Given the description of an element on the screen output the (x, y) to click on. 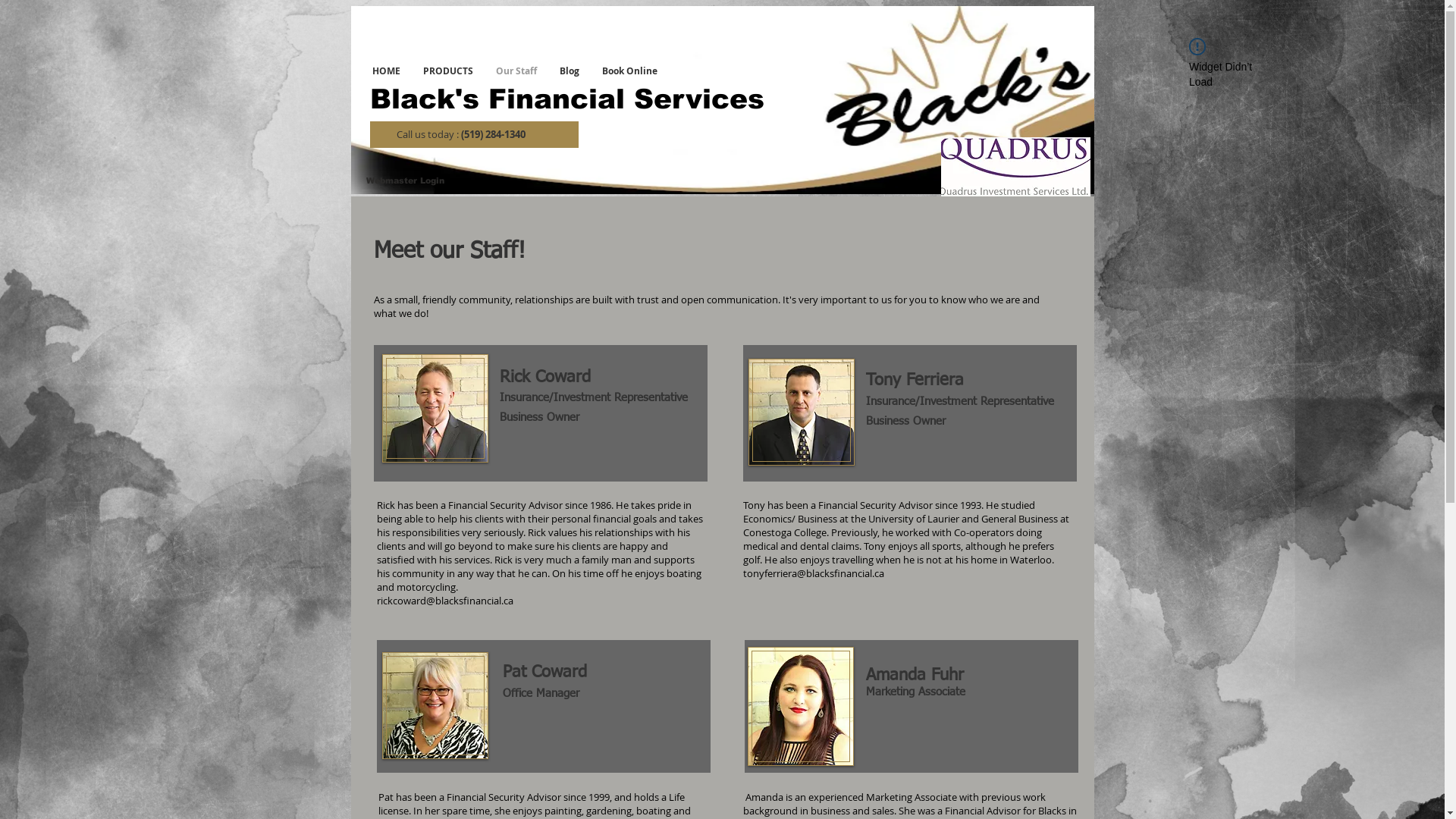
Black's Element type: text (424, 98)
Book Online Element type: text (628, 70)
rickcoward@blacksfinancial.ca Element type: text (444, 600)
tony-may2015.jpg Element type: hover (800, 411)
WEB-STAT Element type: hover (287, 70)
Blog Element type: text (568, 70)
Webmaster Login Element type: text (404, 180)
HOME Element type: text (385, 70)
Our Staff Element type: text (515, 70)
PRODUCTS Element type: text (447, 70)
Pat-may2015.jpg Element type: hover (435, 705)
Rick-may2015.jpg Element type: hover (435, 408)
tonyferriera@blacksfinancial.ca Element type: text (813, 573)
Logo.jpg Element type: hover (721, 100)
